Given the description of an element on the screen output the (x, y) to click on. 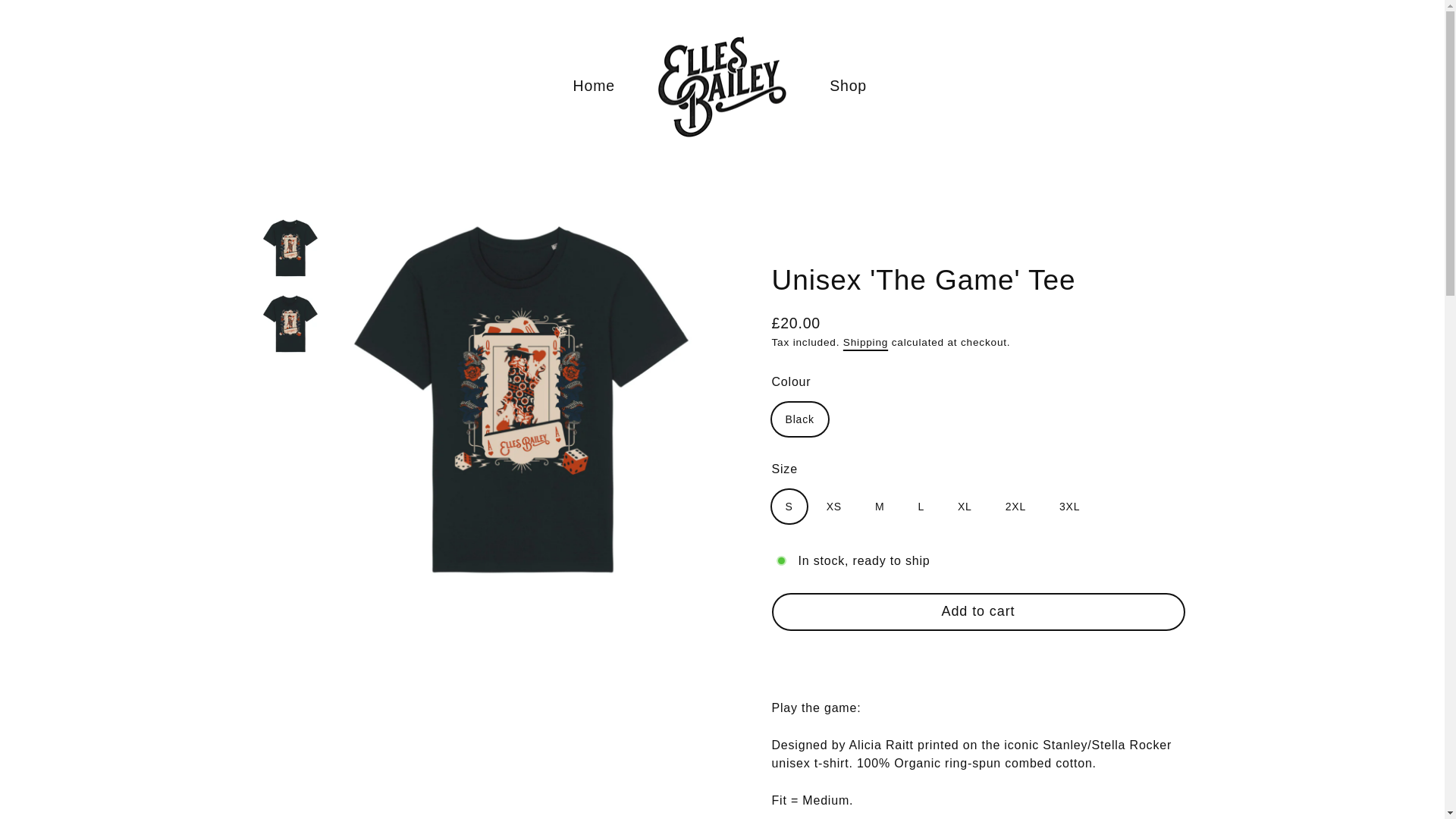
Home (594, 86)
Shipping (865, 342)
Shop (847, 86)
Add to cart (978, 611)
